Given the description of an element on the screen output the (x, y) to click on. 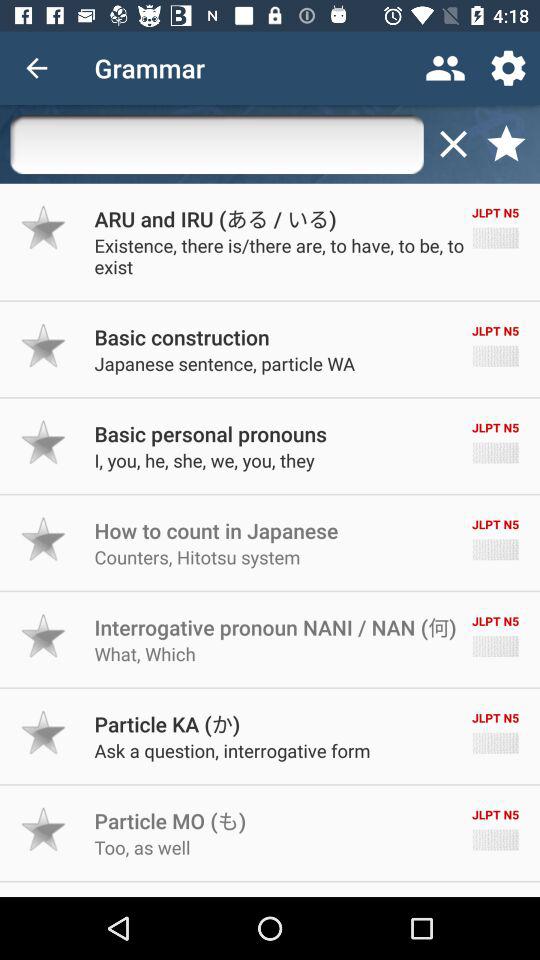
turn on icon next to jlpt n5 item (181, 336)
